Given the description of an element on the screen output the (x, y) to click on. 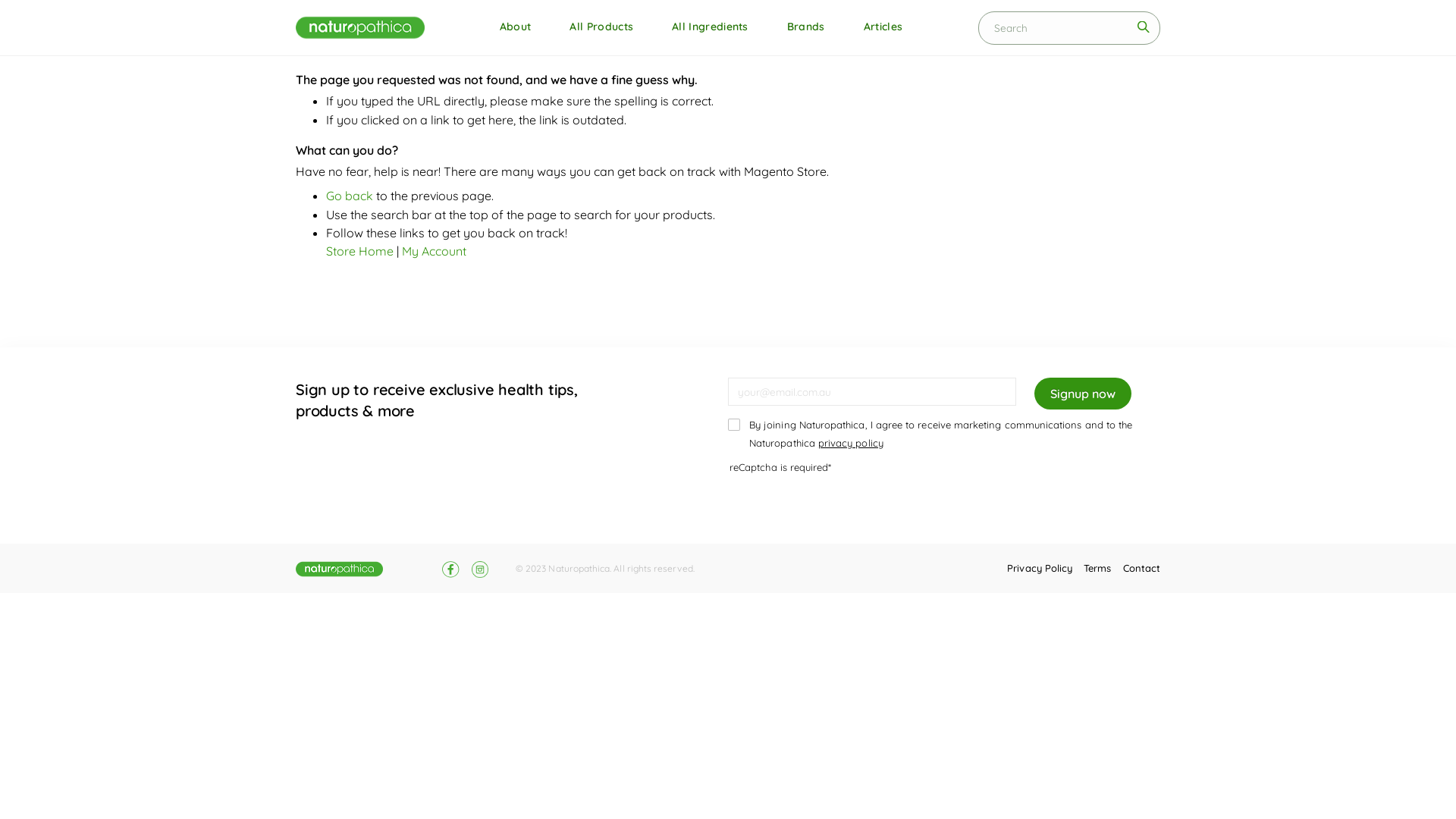
Go back Element type: text (349, 195)
About Element type: text (515, 27)
Signup now Element type: text (1082, 393)
Privacy Policy Element type: text (1039, 567)
privacy policy Element type: text (850, 442)
Naturopathica Element type: hover (359, 27)
All Ingredients Element type: text (709, 27)
My Account Element type: text (433, 250)
All Products Element type: text (601, 27)
Search Element type: hover (1142, 26)
Store Home Element type: text (359, 250)
Contact Element type: text (1141, 567)
Brands Element type: text (805, 27)
Terms Element type: text (1096, 567)
Articles Element type: text (882, 27)
